Given the description of an element on the screen output the (x, y) to click on. 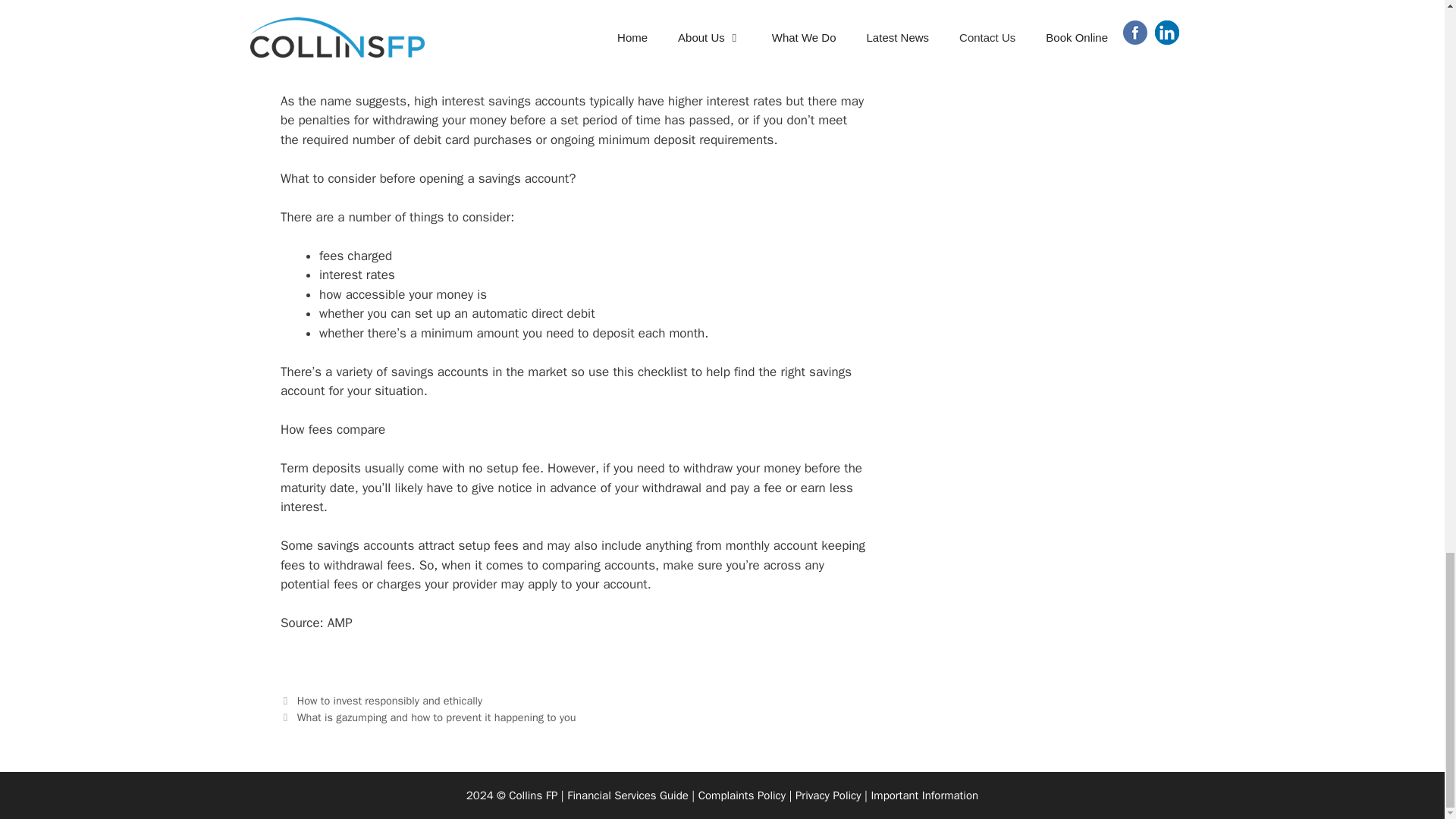
What is gazumping and how to prevent it happening to you (436, 716)
Important Information (924, 795)
Financial Services Guide (627, 795)
Privacy Policy (924, 795)
Complaints Policy (827, 795)
How to invest responsibly and ethically (742, 795)
